Given the description of an element on the screen output the (x, y) to click on. 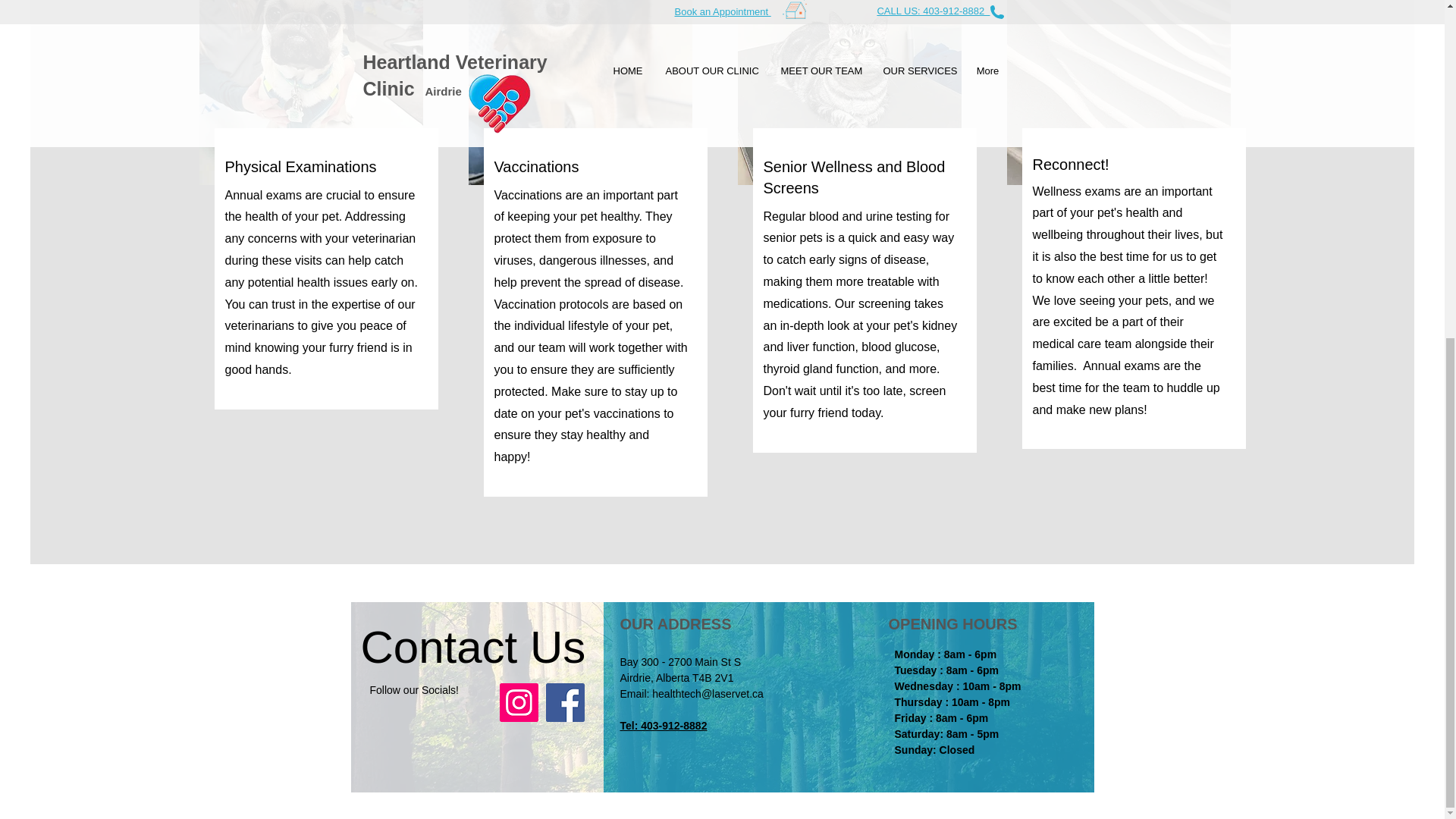
Wix (603, 654)
Tel: 403-912-8882 (663, 733)
